Given the description of an element on the screen output the (x, y) to click on. 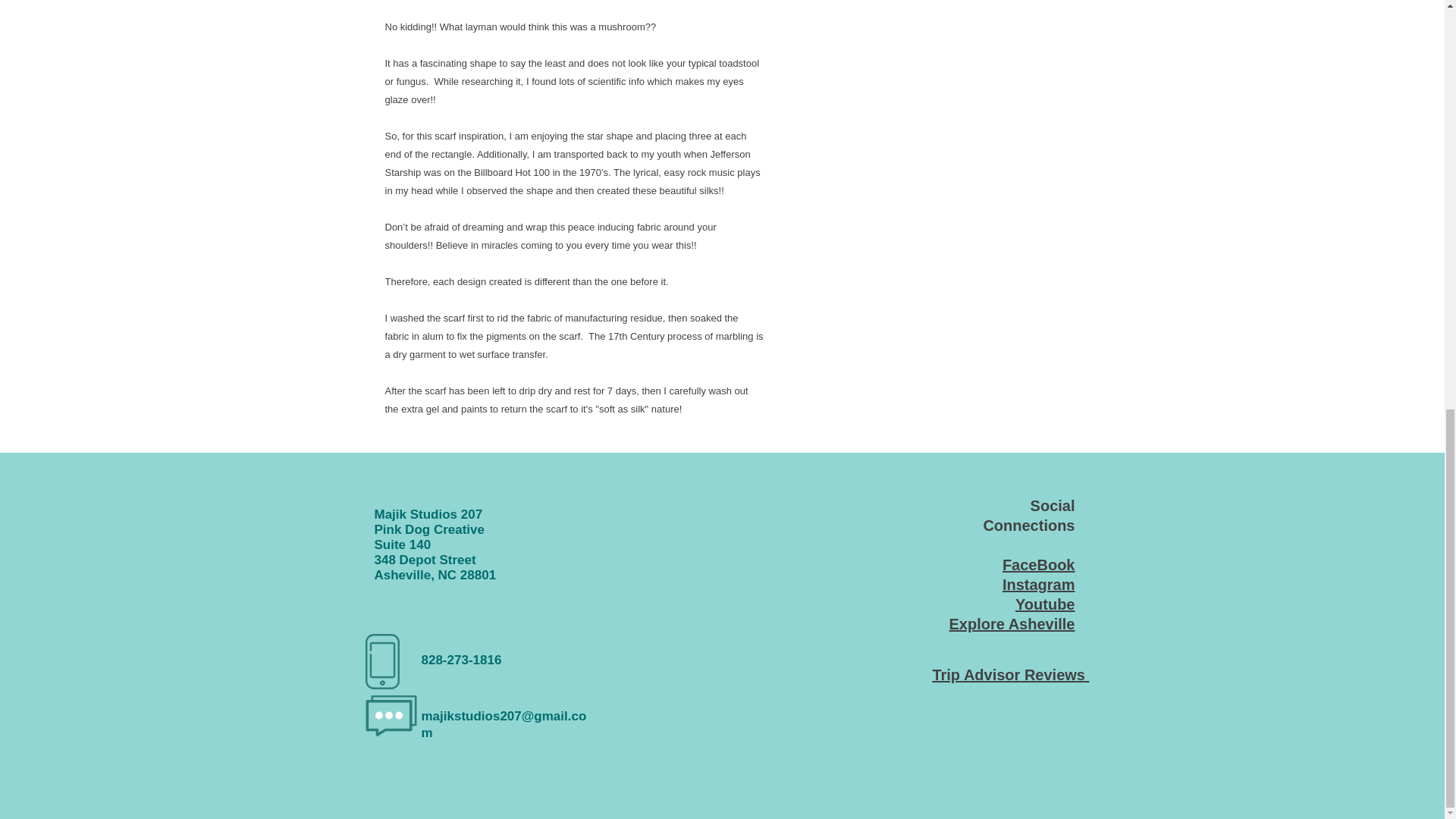
Trip Advisor Reviews  (1010, 674)
Explore Asheville (1012, 623)
Instagram (1039, 584)
Youtube (1044, 604)
FaceBook (1039, 564)
